Given the description of an element on the screen output the (x, y) to click on. 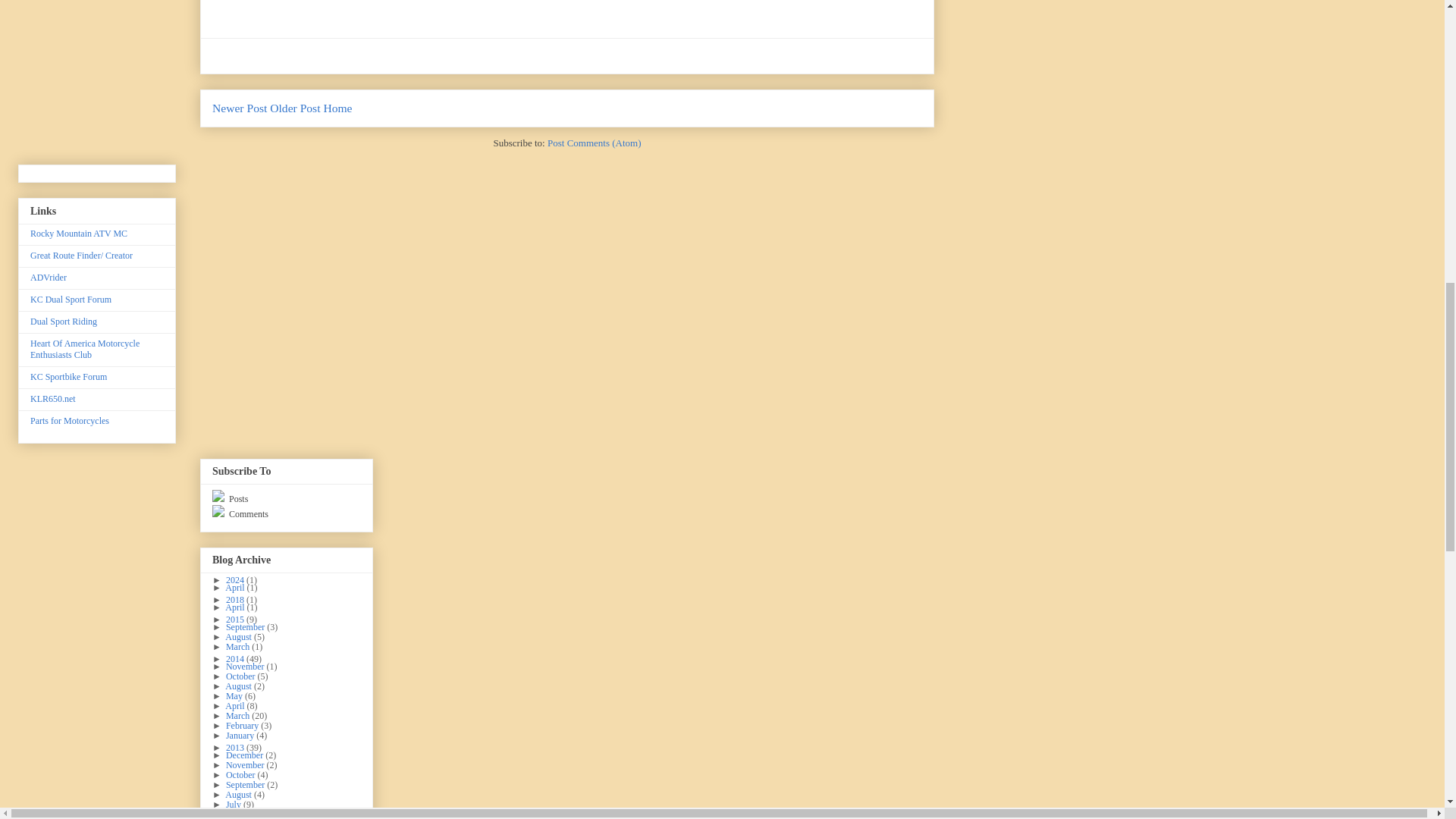
KLR650.net (52, 398)
2024 (235, 579)
Older Post (294, 107)
Rocky Mountain ATV MC (79, 233)
Older Post (294, 107)
2018 (235, 599)
Dual Sport Riding (63, 321)
Newer Post (239, 107)
KC Dual Sport Forum (71, 299)
Newer Post (239, 107)
Parts for Motorcycles (69, 420)
ADVrider (48, 276)
KC Sportbike Forum (68, 376)
Home (337, 107)
Heart Of America Motorcycle Enthusiasts Club (84, 349)
